Given the description of an element on the screen output the (x, y) to click on. 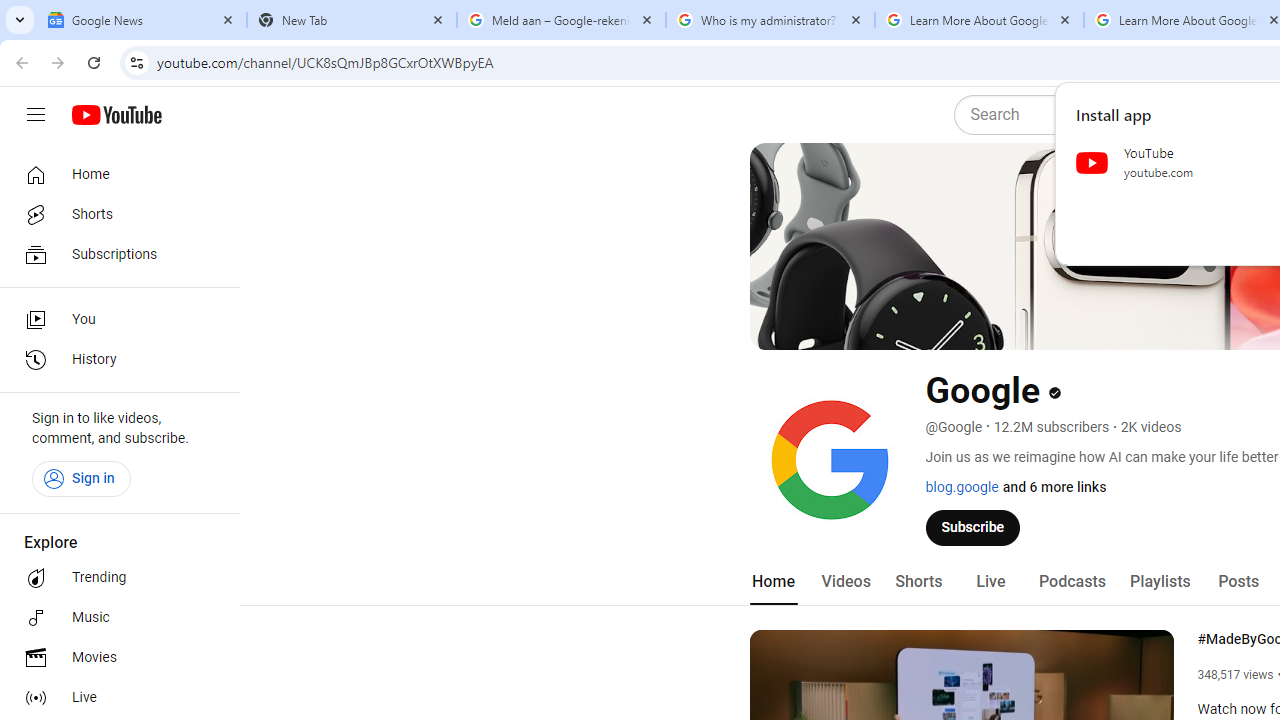
Subscribe (973, 527)
and 6 more links (1054, 487)
Trending (113, 578)
Guide (35, 115)
Shorts (918, 581)
Playlists (1160, 581)
Live (990, 581)
